Given the description of an element on the screen output the (x, y) to click on. 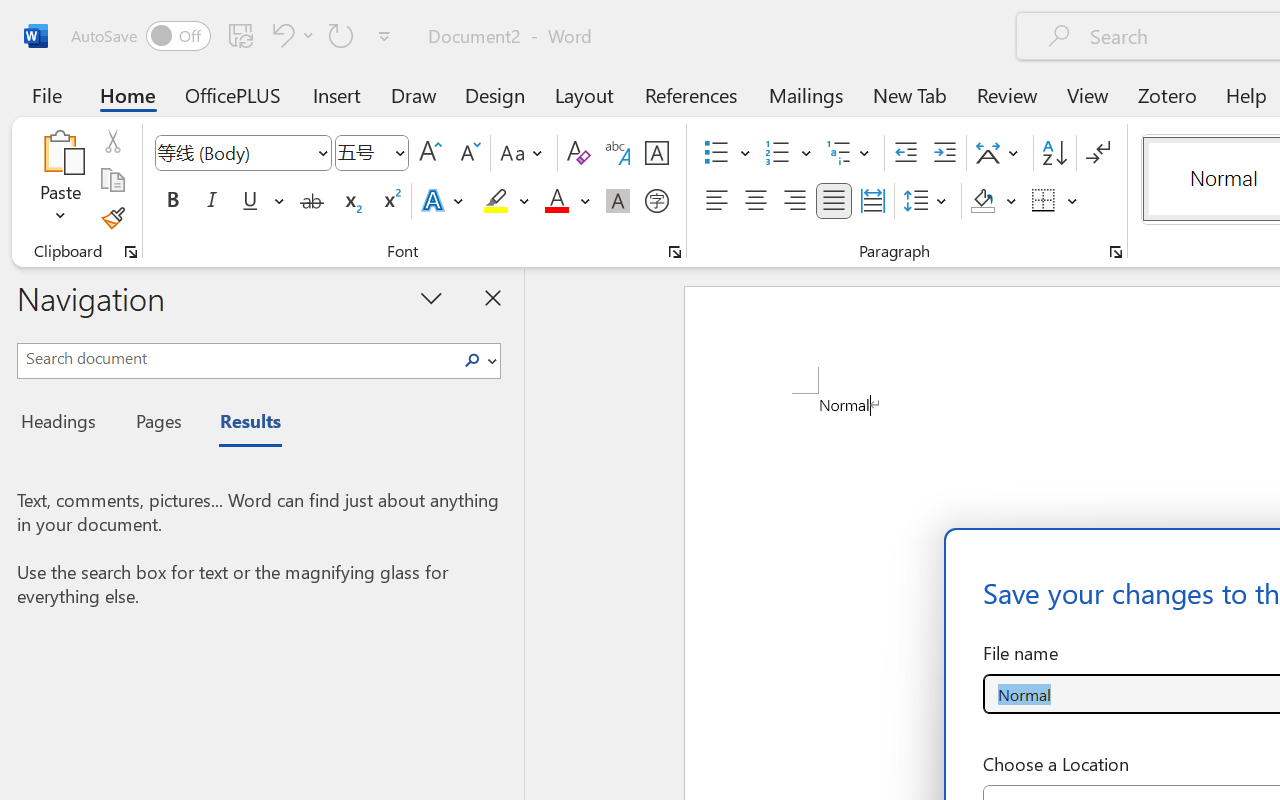
Copy (112, 179)
Distributed (872, 201)
Shrink Font (468, 153)
Office Clipboard... (131, 252)
Bullets (716, 153)
OfficePLUS (233, 94)
Font Color Red (556, 201)
Undo Apply Quick Style (290, 35)
Decrease Indent (906, 153)
Review (1007, 94)
Paragraph... (1115, 252)
Multilevel List (850, 153)
Borders (1055, 201)
Design (495, 94)
Format Painter (112, 218)
